Given the description of an element on the screen output the (x, y) to click on. 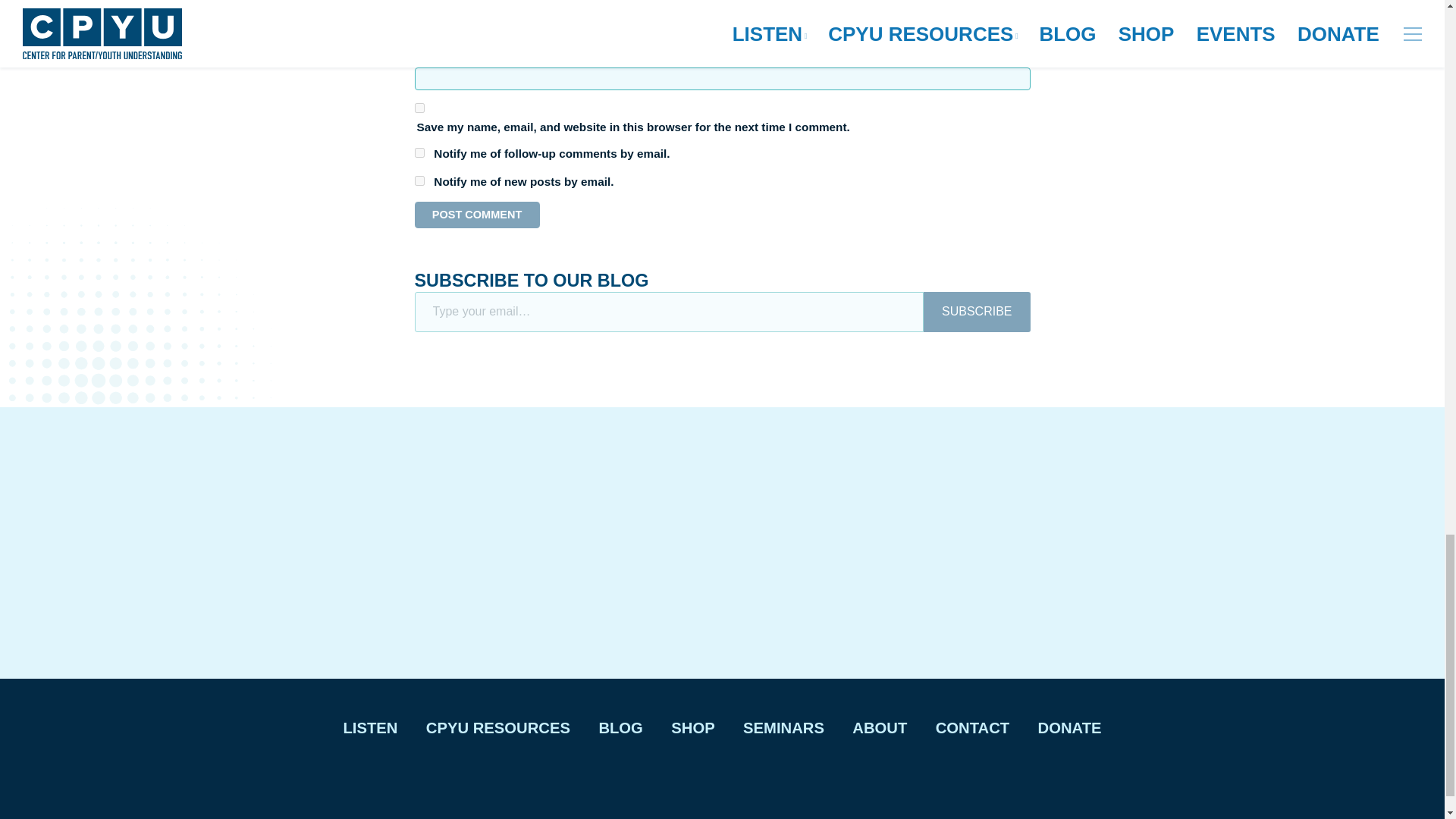
yes (418, 108)
Post Comment (475, 214)
subscribe (418, 153)
subscribe (418, 180)
Please fill in this field. (668, 311)
